Given the description of an element on the screen output the (x, y) to click on. 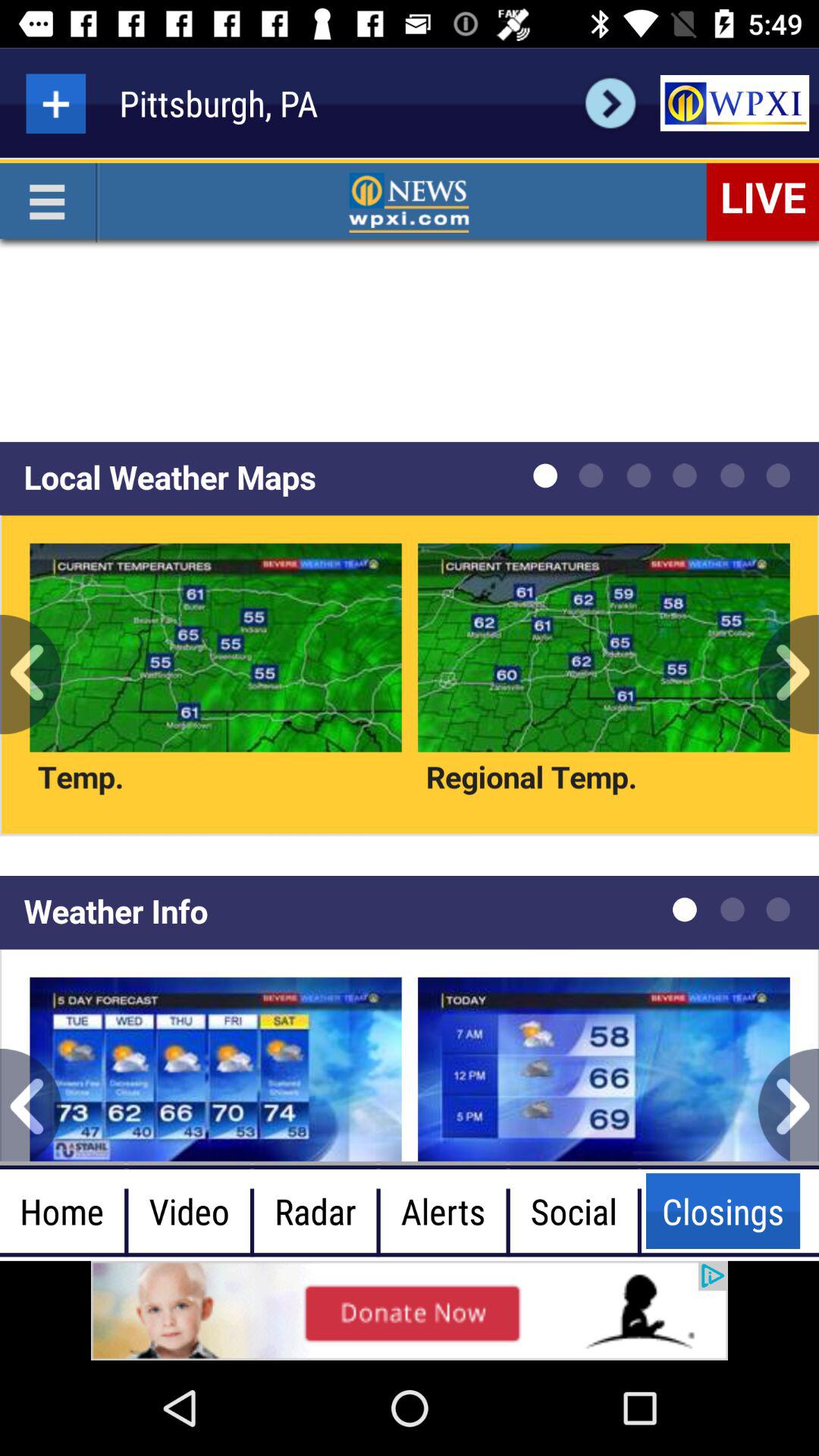
add location (55, 103)
